Given the description of an element on the screen output the (x, y) to click on. 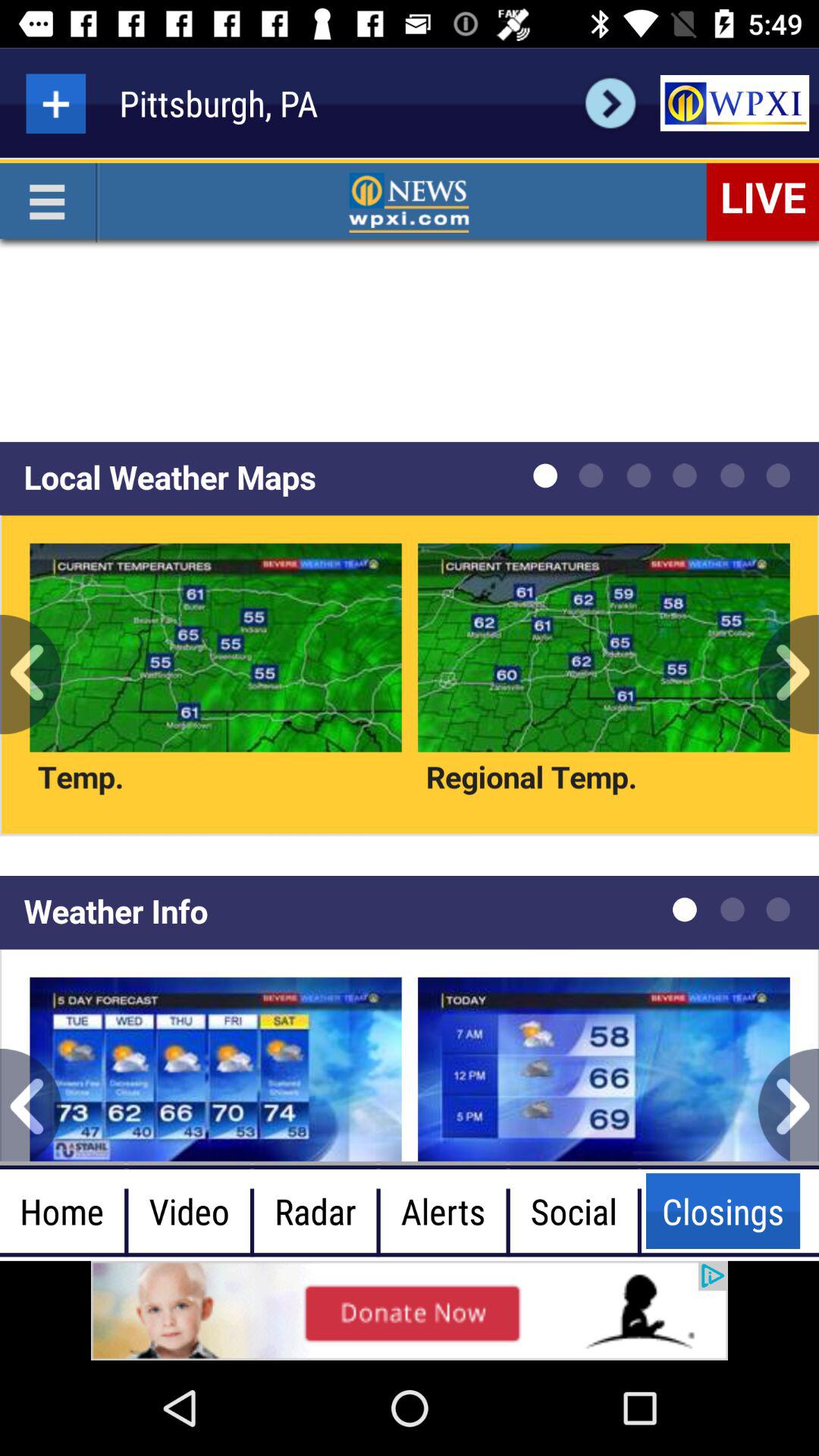
add location (55, 103)
